Given the description of an element on the screen output the (x, y) to click on. 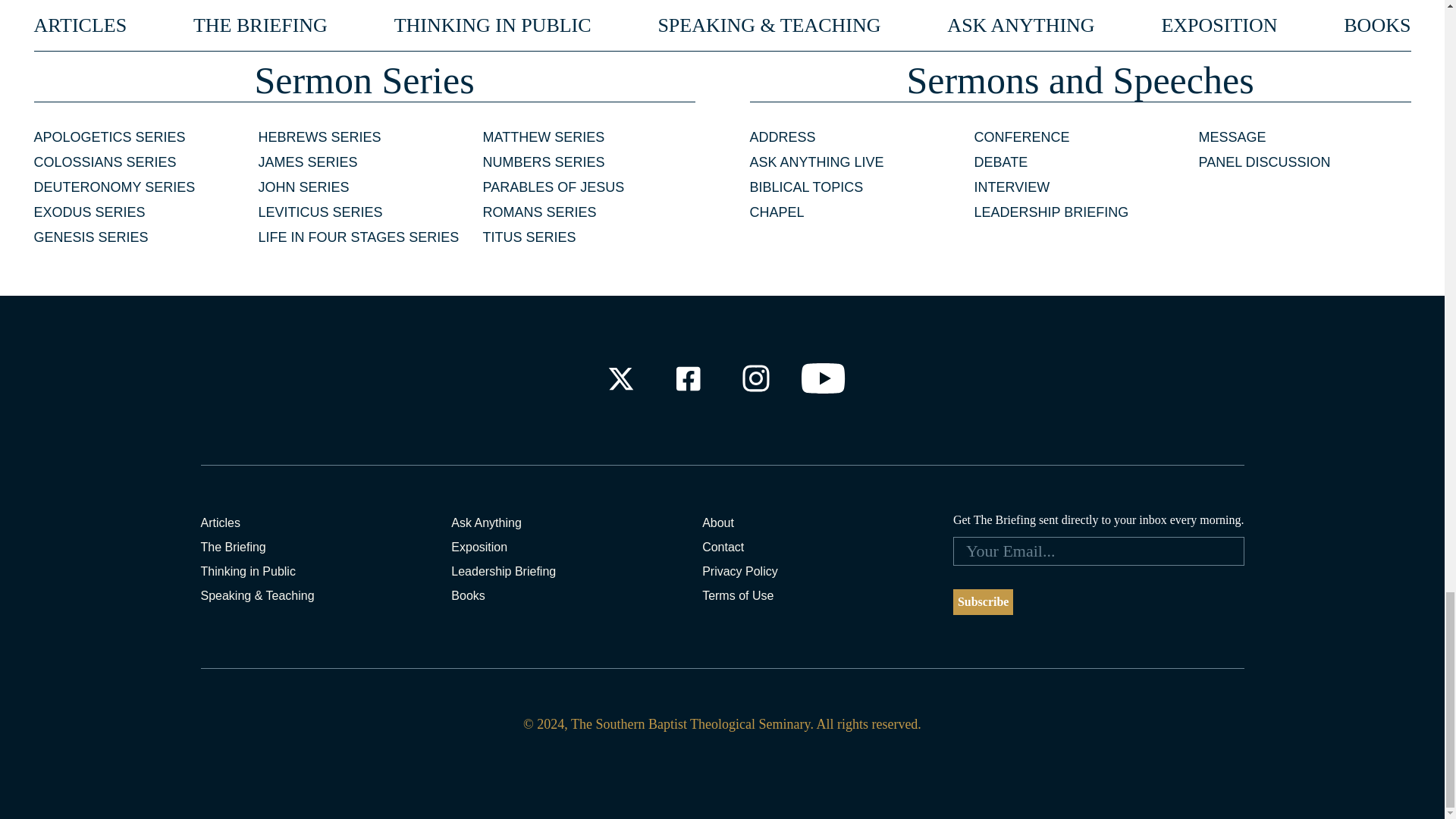
Check out our Facebook Profile (687, 378)
Check out our X Profile (620, 378)
Check out our Youtube Channel (822, 378)
Check out our Instagram Profile (755, 378)
Subscribe (983, 601)
